Given the description of an element on the screen output the (x, y) to click on. 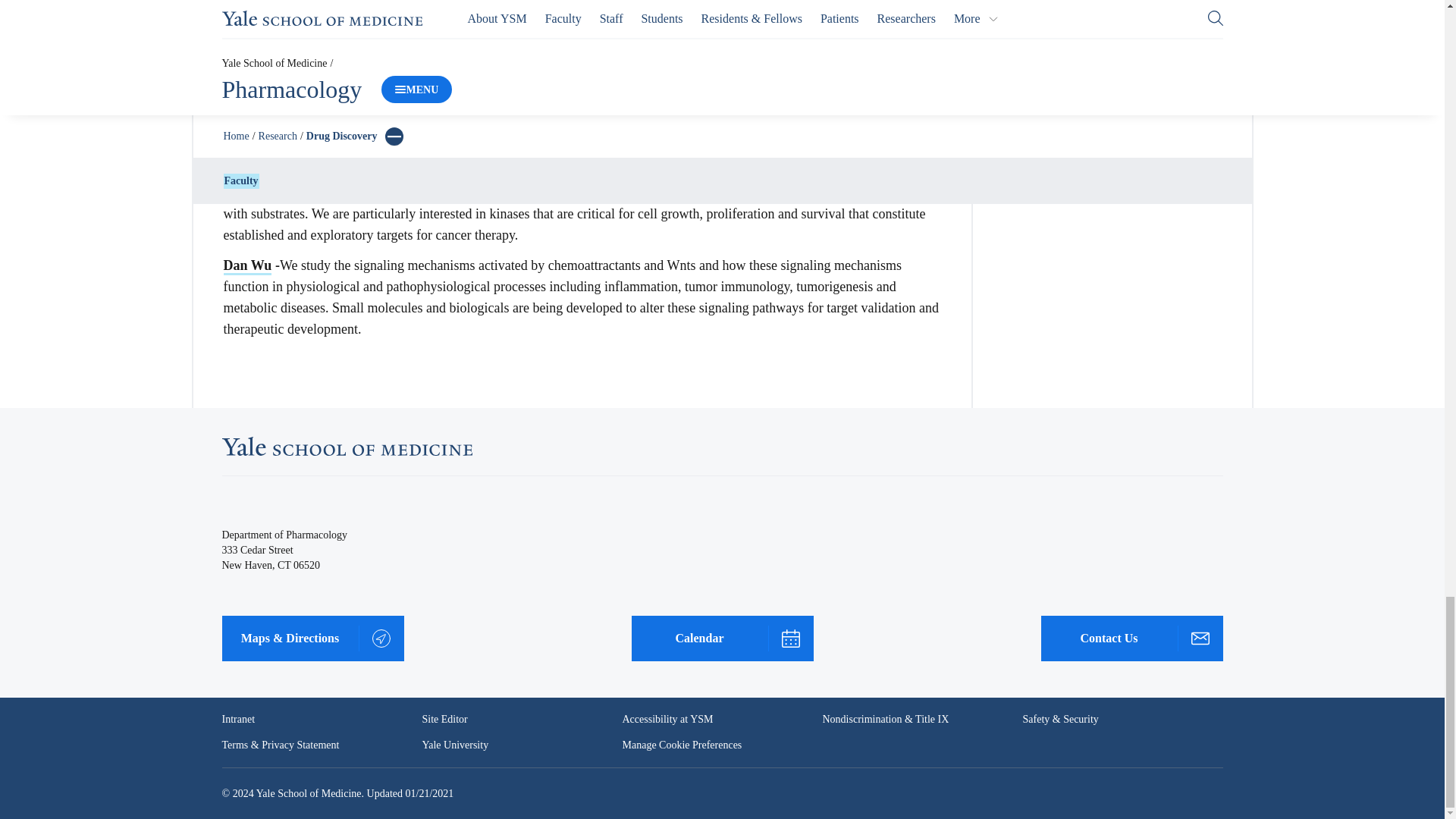
Yale School of Medicine (346, 445)
